Given the description of an element on the screen output the (x, y) to click on. 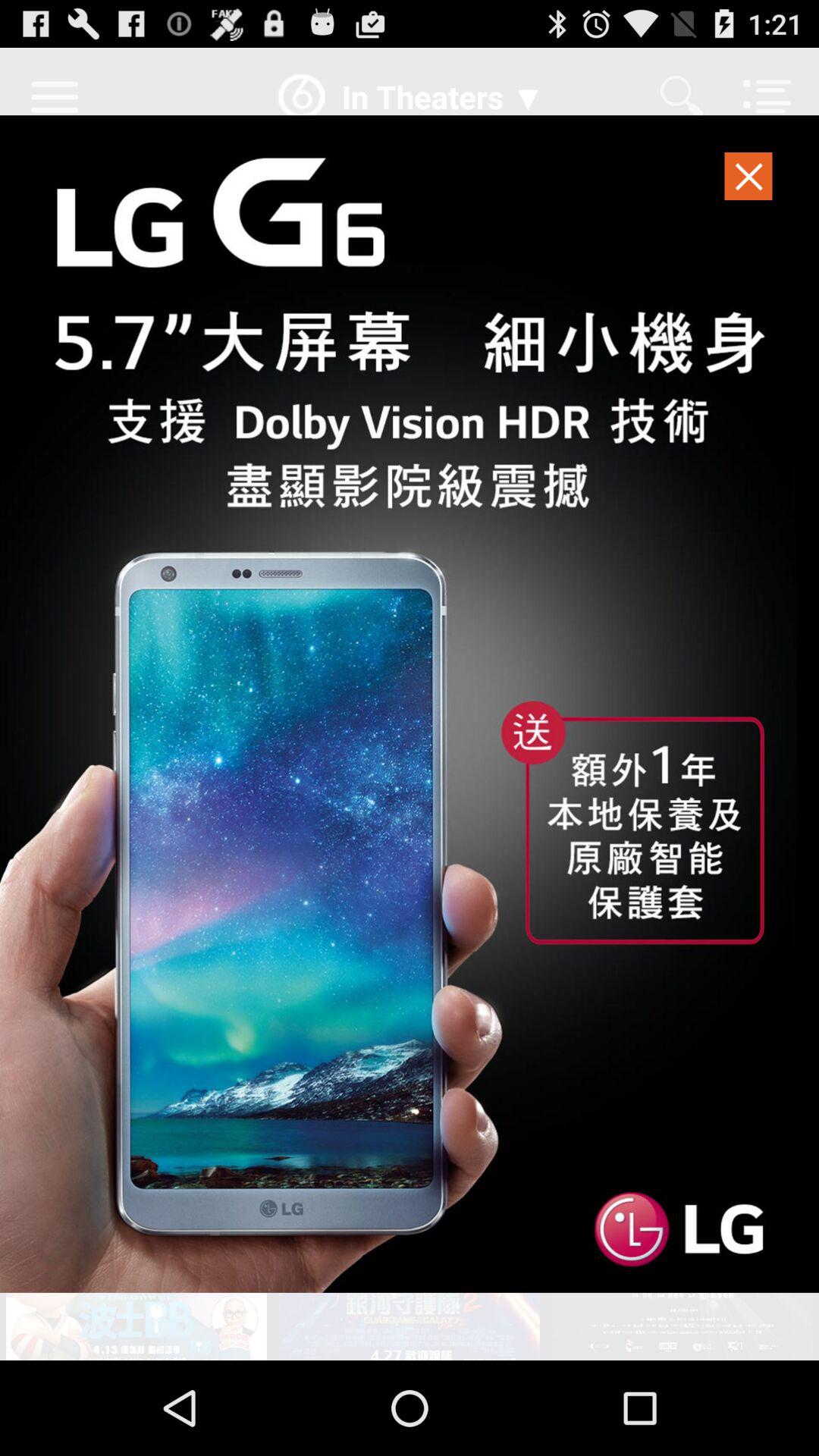
opens an advertisement (409, 703)
